Given the description of an element on the screen output the (x, y) to click on. 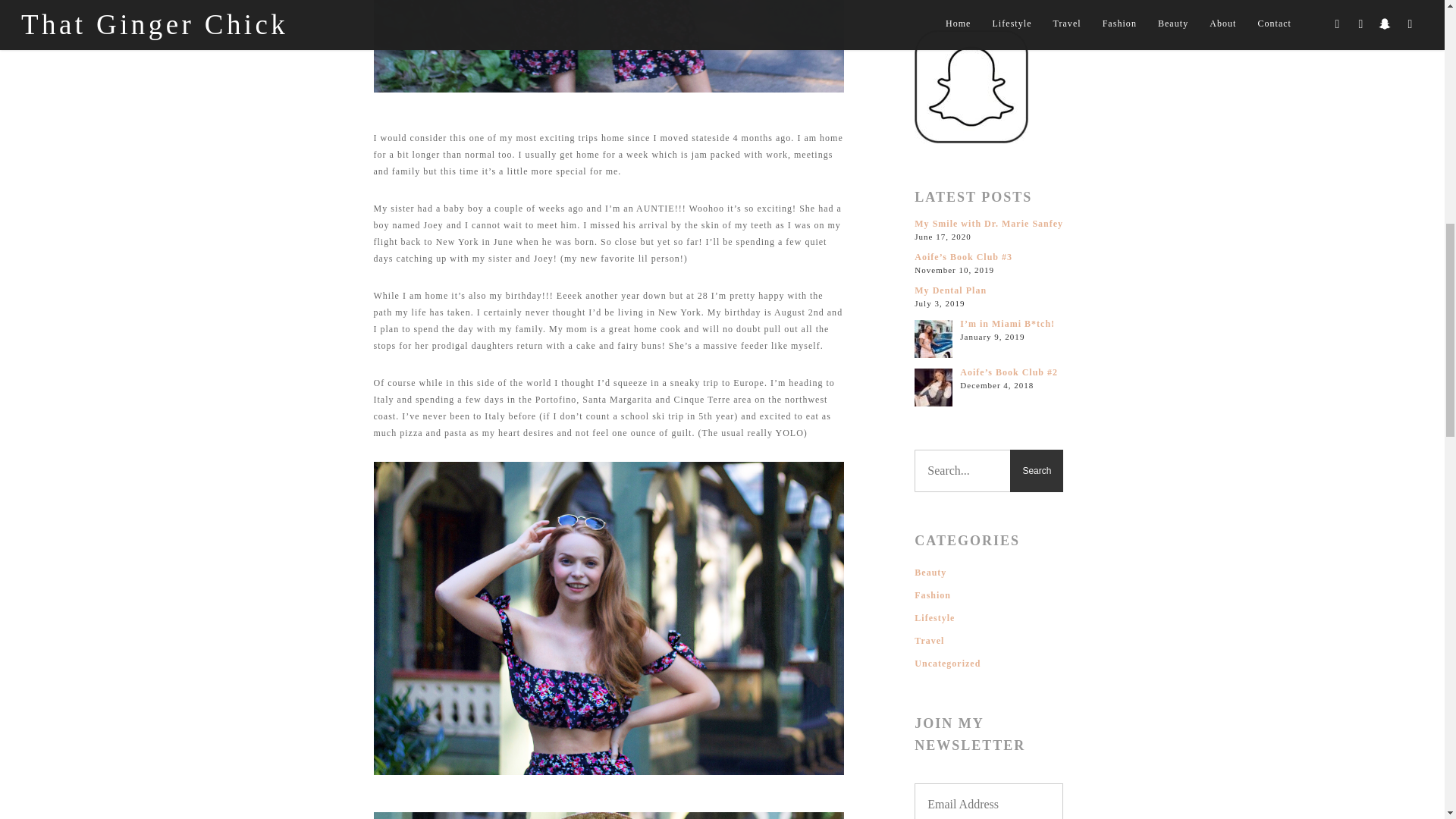
Travel (988, 640)
Uncategorized (988, 663)
Search for: (988, 470)
Search (1036, 470)
Beauty (988, 572)
My Dental Plan (988, 290)
My Dental Plan (988, 290)
Fashion (988, 595)
Search (1036, 470)
Search (1036, 470)
Lifestyle (988, 617)
My Smile with Dr. Marie Sanfey (988, 223)
My Smile with Dr. Marie Sanfey (988, 223)
